Given the description of an element on the screen output the (x, y) to click on. 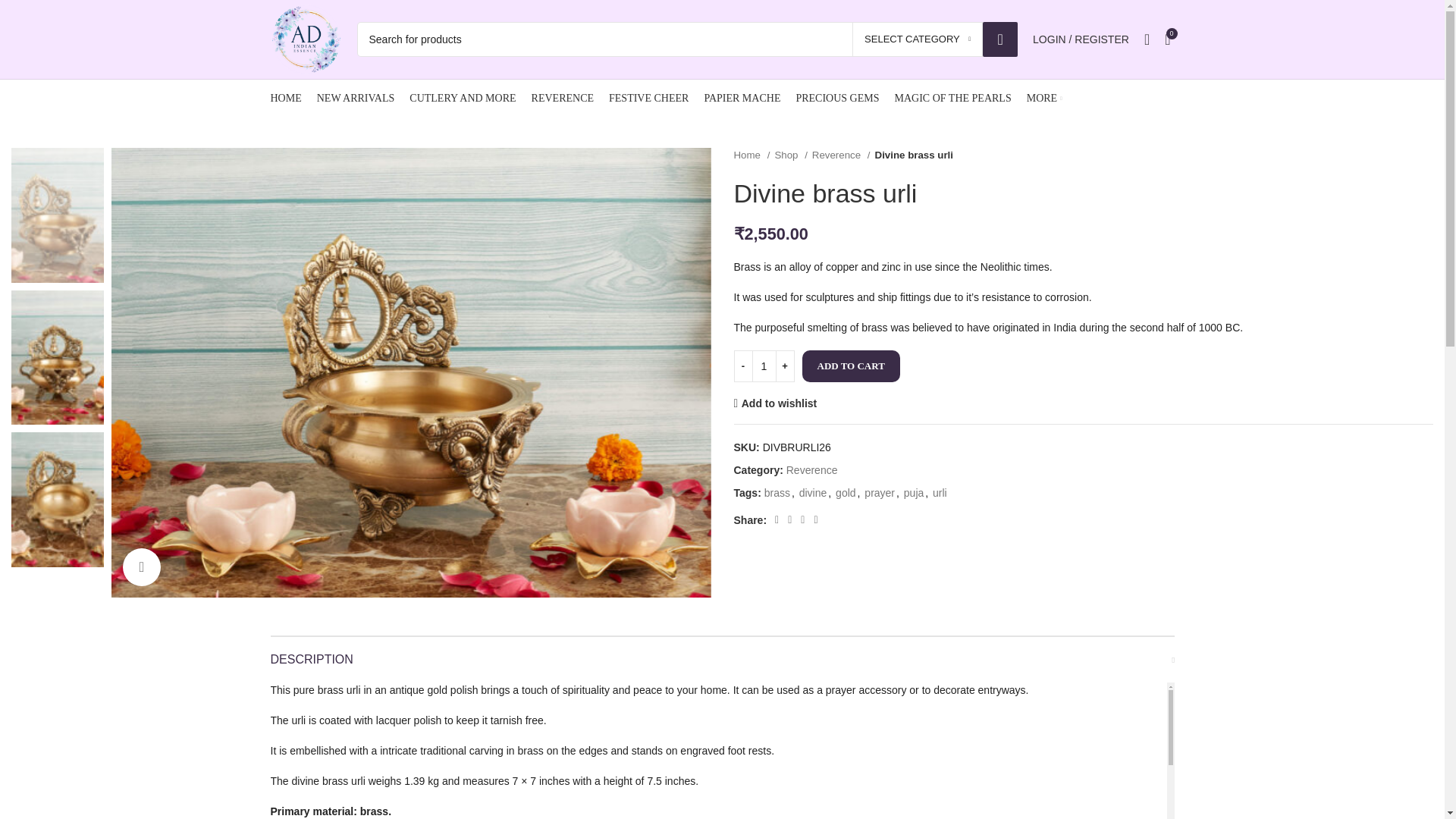
FESTIVE CHEER (648, 98)
HOME (285, 98)
Log in (1003, 276)
SELECT CATEGORY (916, 39)
CUTLERY AND MORE (462, 98)
SELECT CATEGORY (916, 39)
NEW ARRIVALS (355, 98)
REVERENCE (562, 98)
My account (1081, 39)
SEARCH (999, 39)
Search for products (686, 39)
PAPIER MACHE (741, 98)
